Given the description of an element on the screen output the (x, y) to click on. 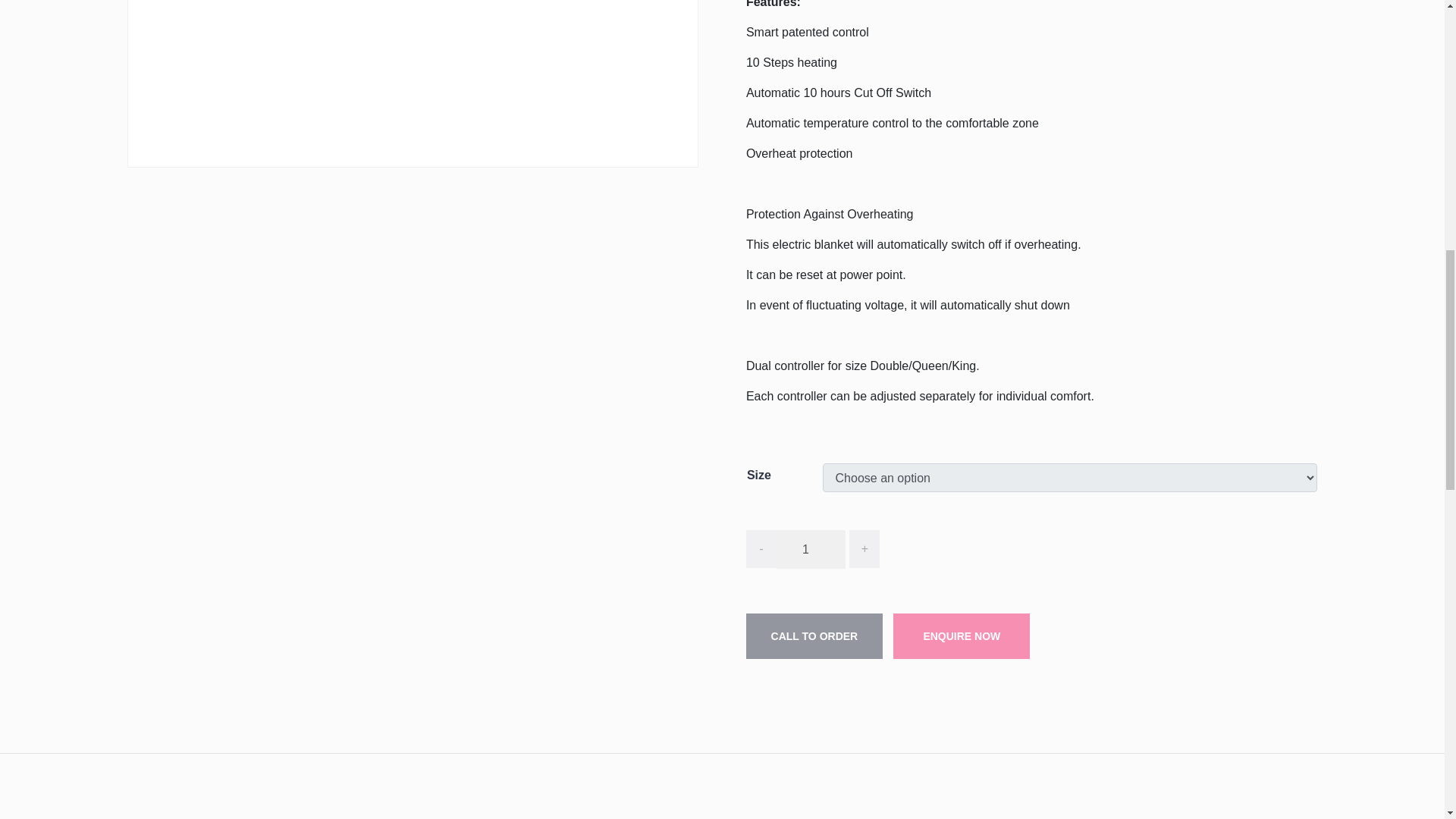
fkelb15-1 (412, 75)
- (760, 548)
CALL TO ORDER (813, 636)
Qty (811, 549)
1 (811, 549)
ENQUIRE NOW (961, 636)
